Given the description of an element on the screen output the (x, y) to click on. 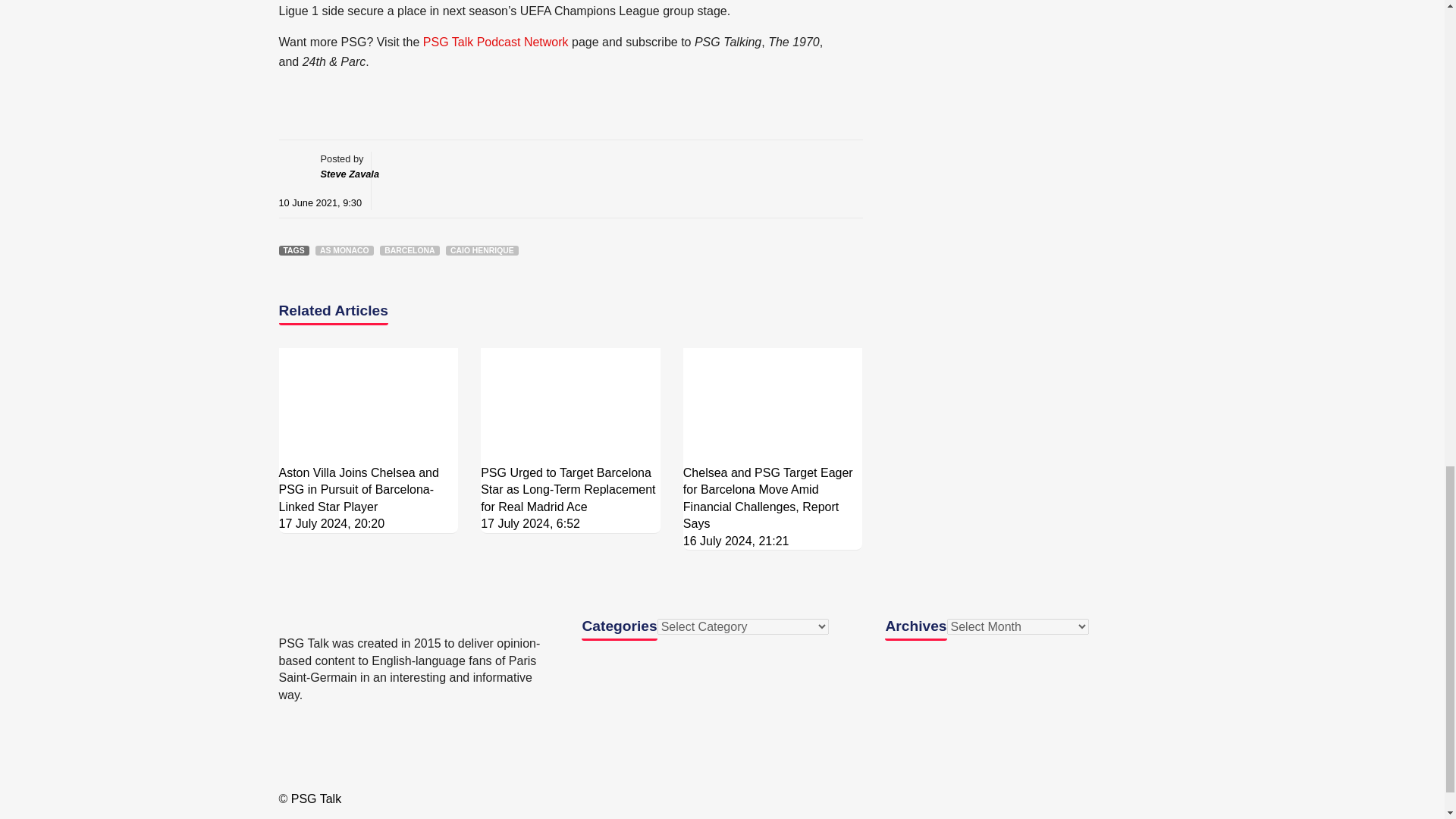
PSG Talk Podcast Network (496, 42)
